Given the description of an element on the screen output the (x, y) to click on. 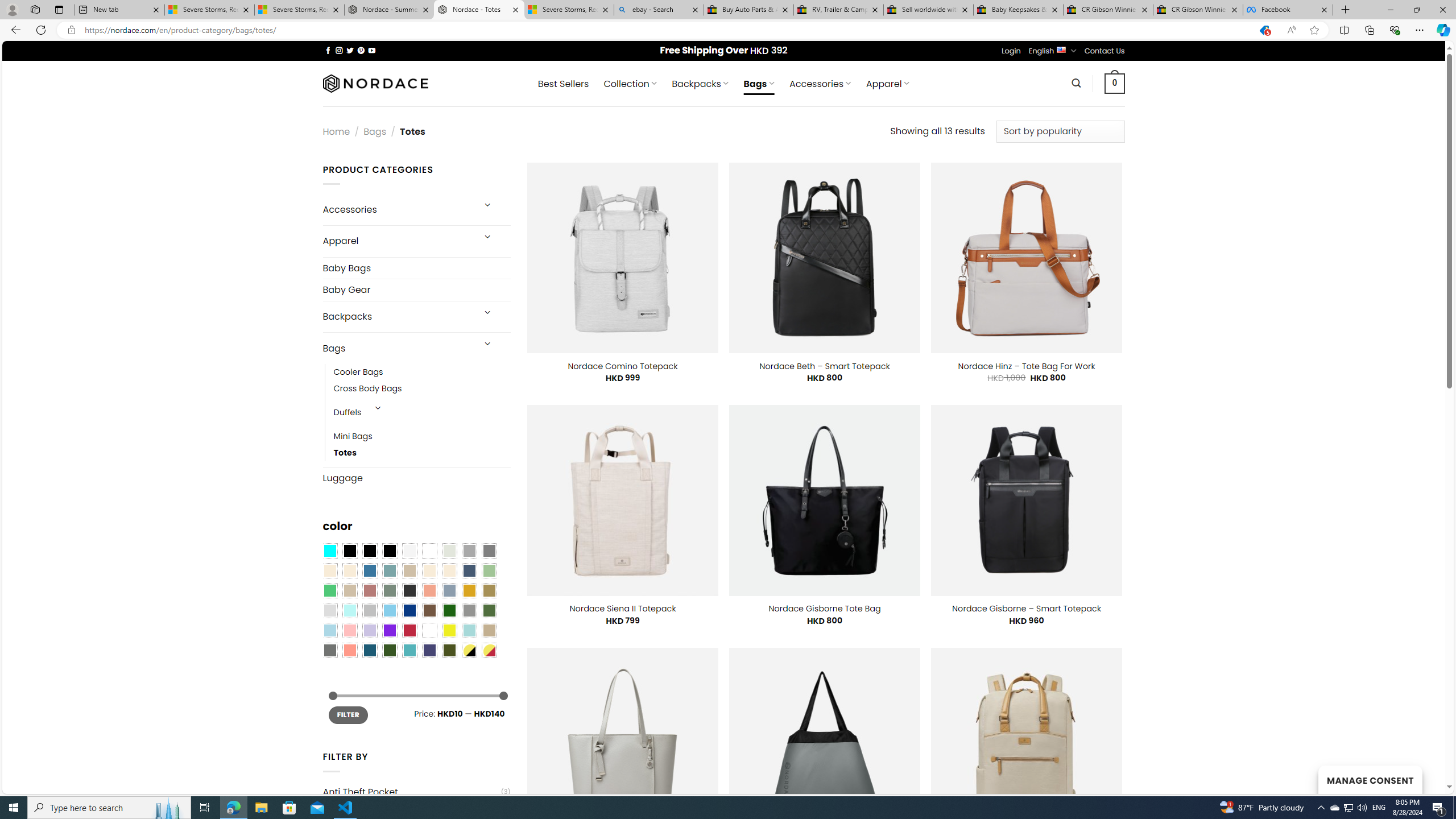
Emerald Green (329, 590)
  0   (1115, 83)
Purple Navy (429, 649)
RV, Trailer & Camper Steps & Ladders for sale | eBay (838, 9)
Duffels (347, 412)
Baby Keepsakes & Announcements for sale | eBay (1018, 9)
White (429, 630)
Follow on Instagram (338, 49)
Nordace Comino Totepack (622, 365)
Pearly White (408, 550)
